Given the description of an element on the screen output the (x, y) to click on. 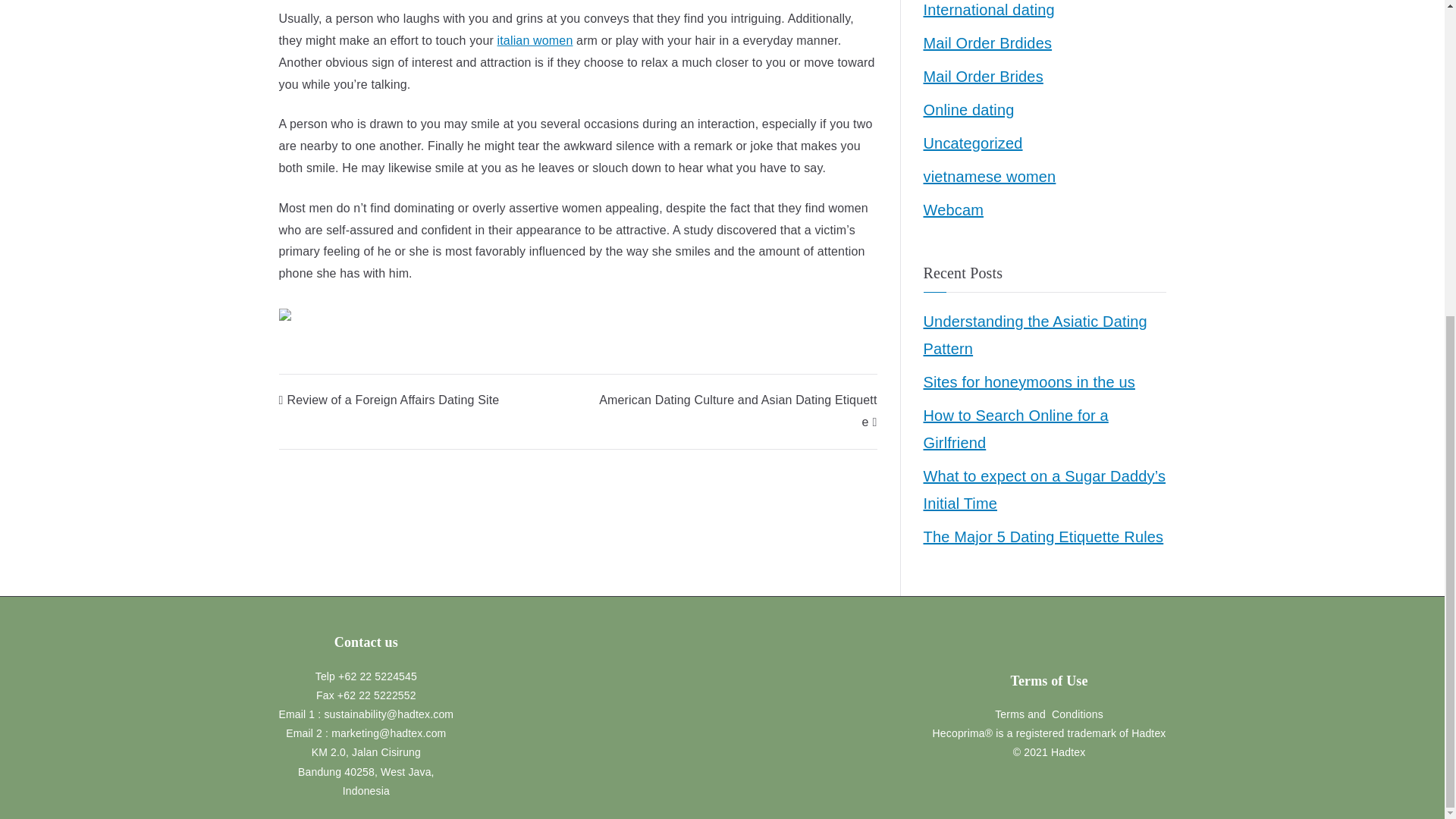
Review of a Foreign Affairs Dating Site (389, 399)
Mail Order Brdides (987, 42)
International dating (988, 11)
italian women (535, 40)
American Dating Culture and Asian Dating Etiquette (737, 410)
